Given the description of an element on the screen output the (x, y) to click on. 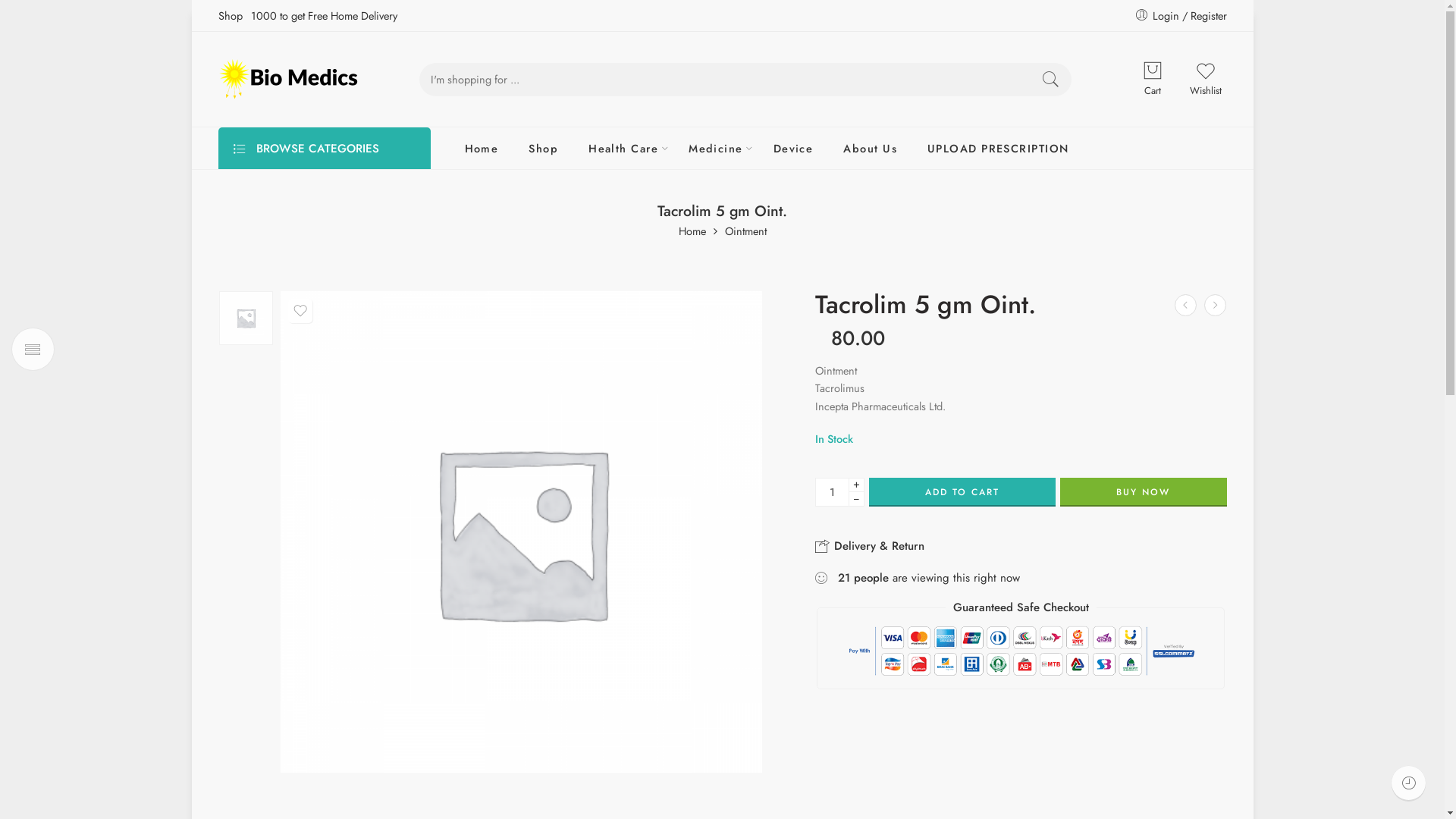
+ Element type: text (856, 484)
Medicine Element type: text (715, 148)
Nyclobate 10 g Oint. Element type: hover (1185, 305)
AFM-Plus 3 G E.Oint. Element type: hover (1215, 305)
Wishlist Element type: hover (300, 310)
Home Element type: text (481, 148)
About Us Element type: text (870, 148)
UPLOAD PRESCRIPTION Element type: text (998, 148)
Wishlist Element type: text (1205, 78)
Recently Viewed Element type: hover (1408, 782)
Ointment Element type: text (745, 231)
Shop Element type: text (543, 148)
Home Element type: text (691, 231)
Cart Element type: text (1152, 70)
Login / Register Element type: text (1180, 15)
ADD TO CART Element type: text (962, 491)
 Delivery & Return Element type: text (869, 545)
Qty Element type: hover (832, 491)
Device Element type: text (793, 148)
BUY NOW Element type: text (1143, 491)
Health Care Element type: text (623, 148)
